Given the description of an element on the screen output the (x, y) to click on. 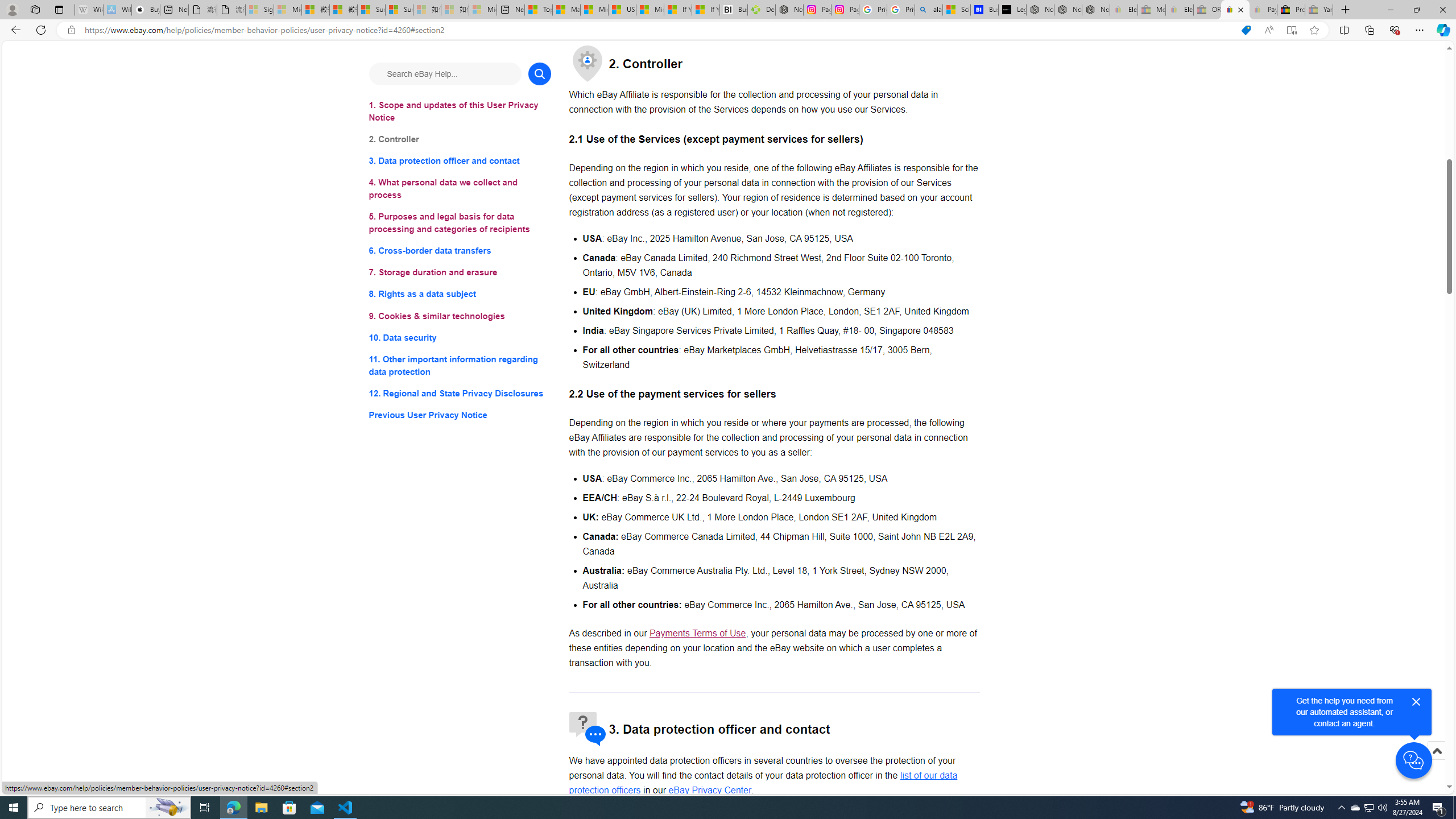
Payments Terms of Use - opens in new window or tab (697, 633)
Search eBay Help... (444, 73)
6. Cross-border data transfers (459, 250)
Scroll to top (1435, 762)
10. Data security (459, 336)
